Given the description of an element on the screen output the (x, y) to click on. 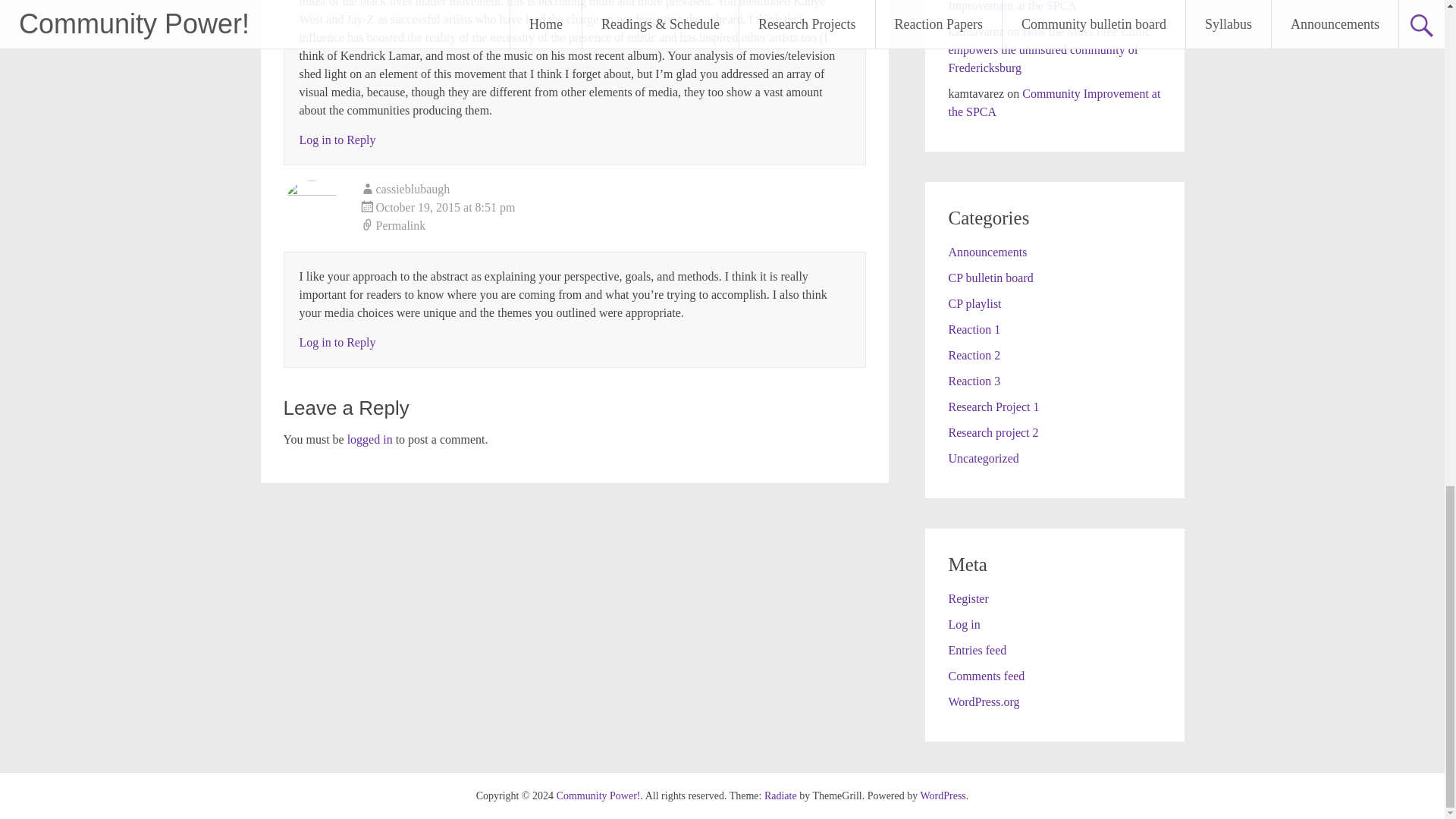
Radiate (780, 795)
Permalink (612, 226)
Log in to Reply (336, 139)
WordPress (942, 795)
Community Power! (598, 795)
logged in (370, 439)
Log in to Reply (336, 341)
